Given the description of an element on the screen output the (x, y) to click on. 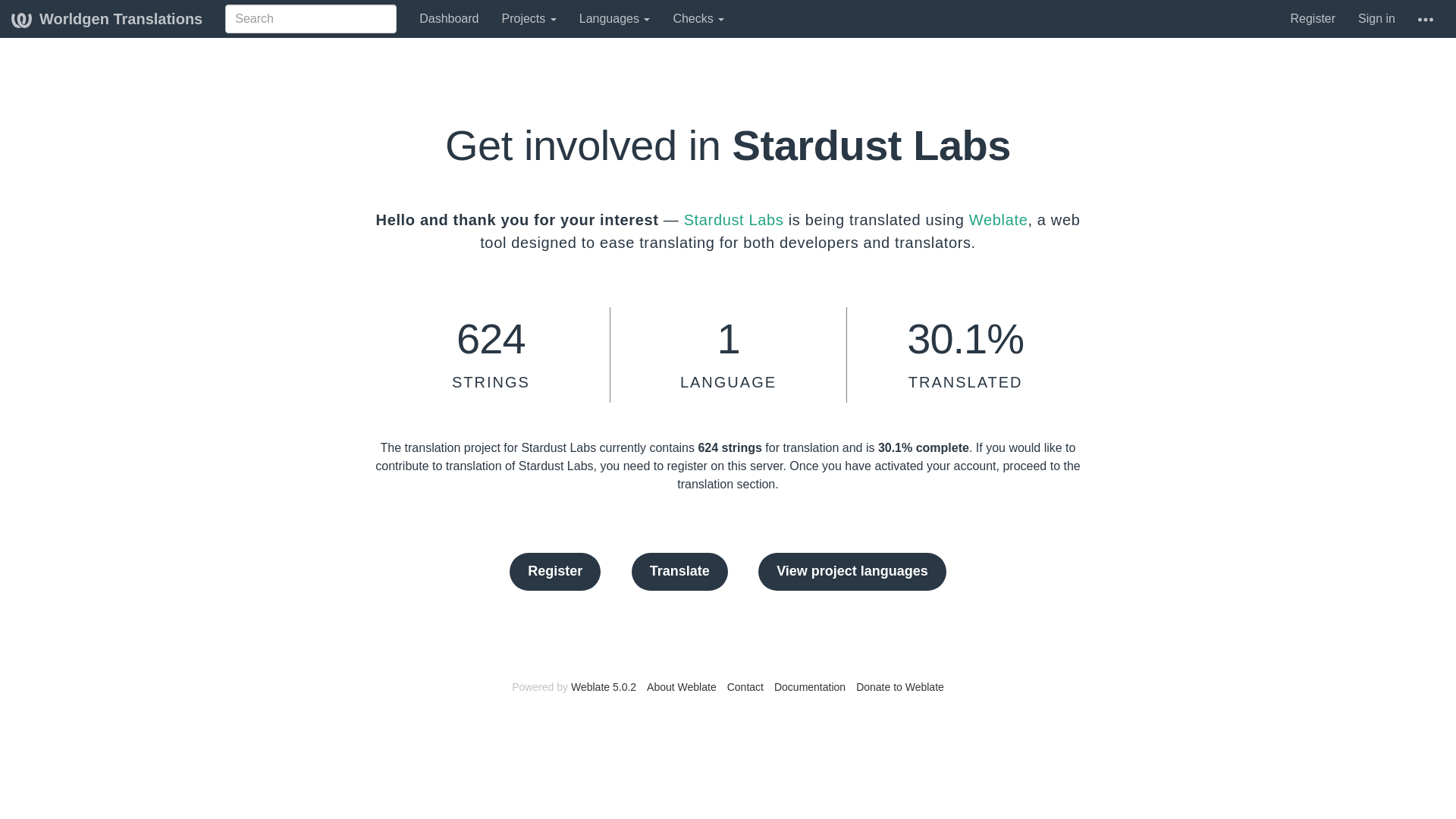
Weblate (998, 219)
About Weblate (681, 686)
Documentation (809, 686)
Donate to Weblate (899, 686)
Register (1312, 18)
Sign in (1376, 18)
Contact (744, 686)
Languages (614, 18)
Worldgen Translations (107, 18)
Projects (528, 18)
Translate (679, 571)
Register (554, 571)
Help (1425, 18)
Weblate 5.0.2 (603, 686)
Dashboard (448, 18)
